Given the description of an element on the screen output the (x, y) to click on. 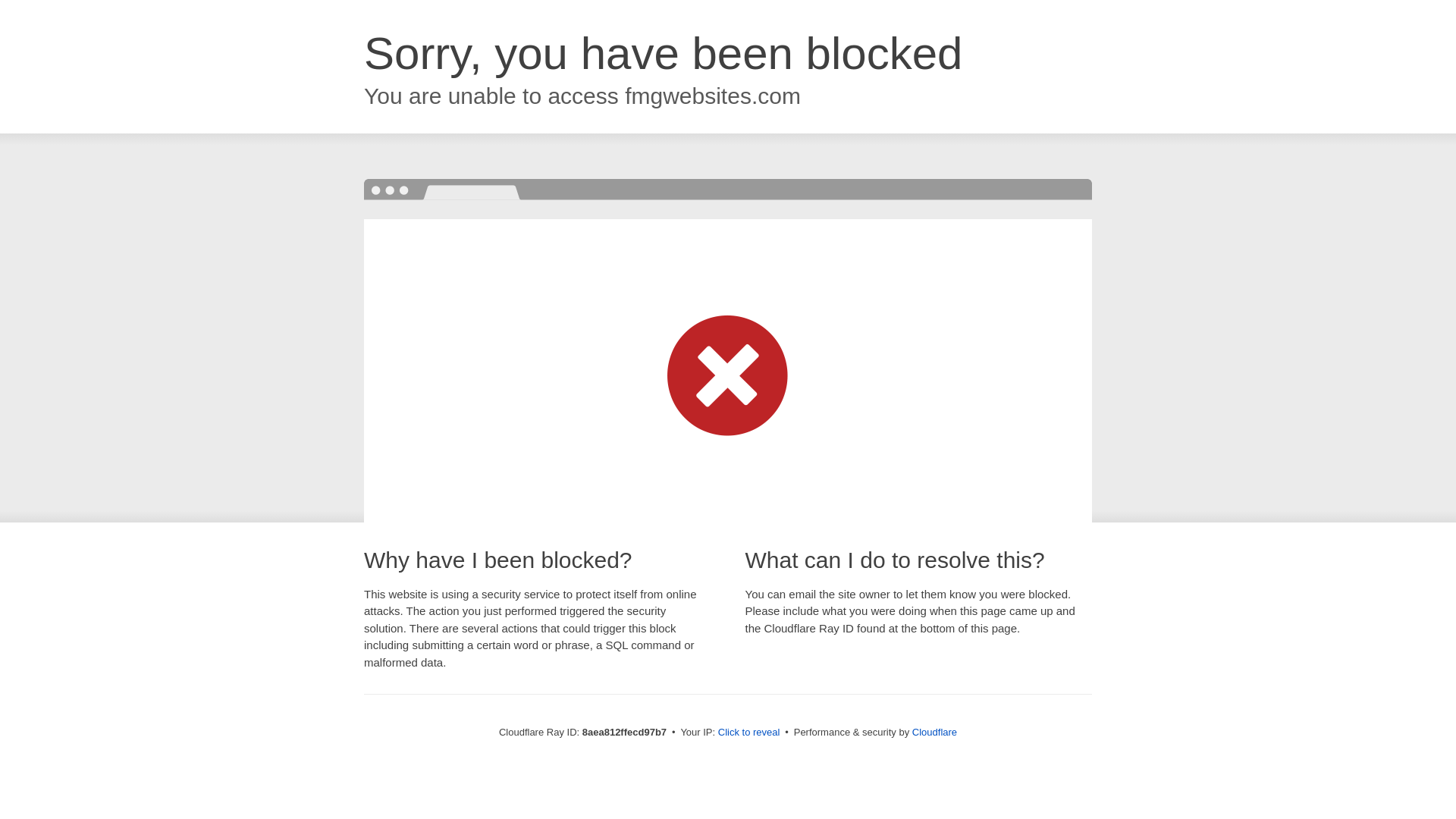
Click to reveal (748, 732)
Cloudflare (934, 731)
